Given the description of an element on the screen output the (x, y) to click on. 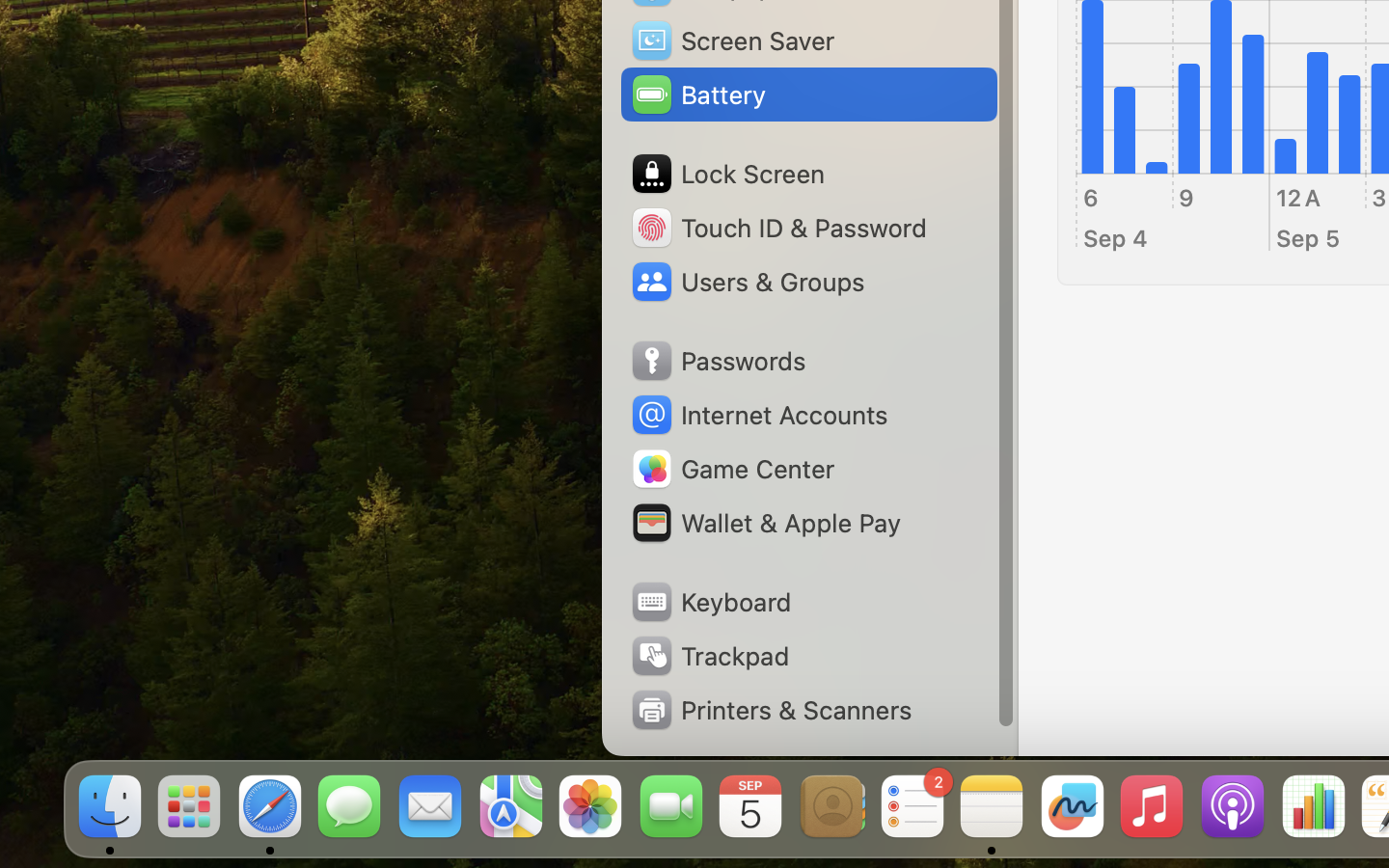
Trackpad Element type: AXStaticText (708, 655)
Passwords Element type: AXStaticText (717, 360)
Users & Groups Element type: AXStaticText (746, 281)
Game Center Element type: AXStaticText (731, 468)
Internet Accounts Element type: AXStaticText (757, 414)
